Given the description of an element on the screen output the (x, y) to click on. 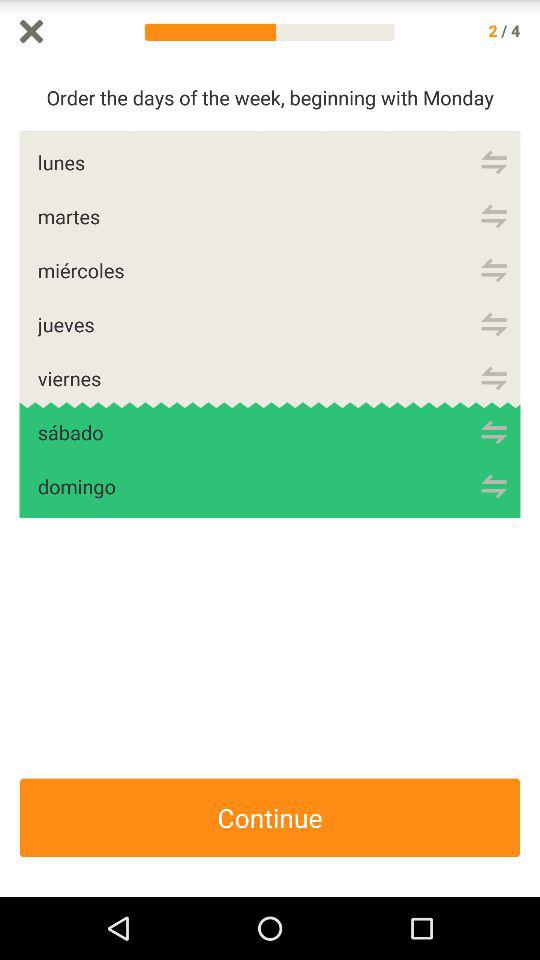
select domingo (494, 486)
